Given the description of an element on the screen output the (x, y) to click on. 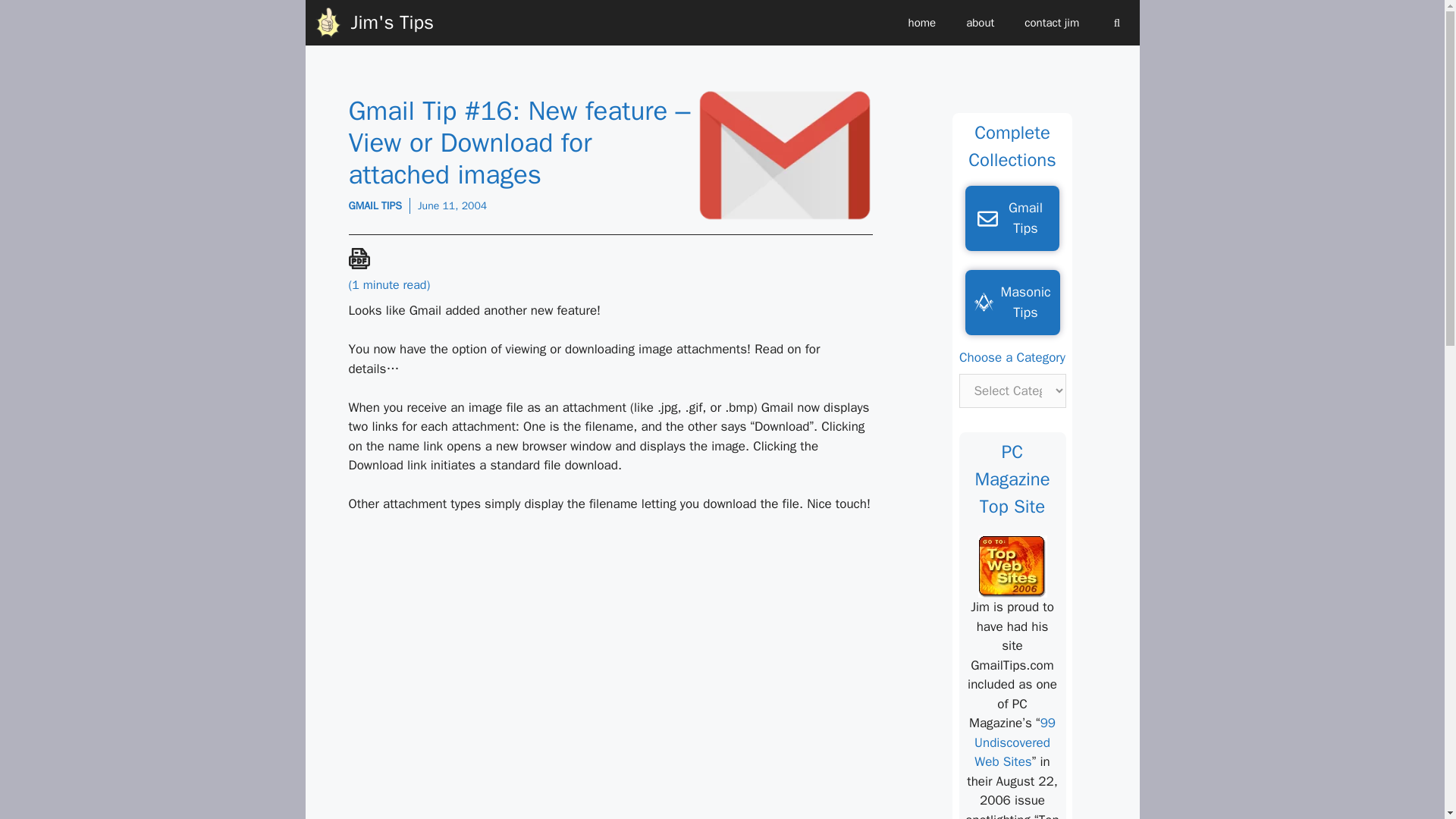
Generate PDF (359, 258)
contact jim (1051, 22)
Jim's Tips (391, 22)
home (922, 22)
about (979, 22)
GMAIL TIPS (376, 205)
pc-mag-top-sites (1012, 566)
99 Undiscovered Web Sites (1014, 741)
Masonic Tips (1011, 302)
Gmail Tips (1012, 217)
